Given the description of an element on the screen output the (x, y) to click on. 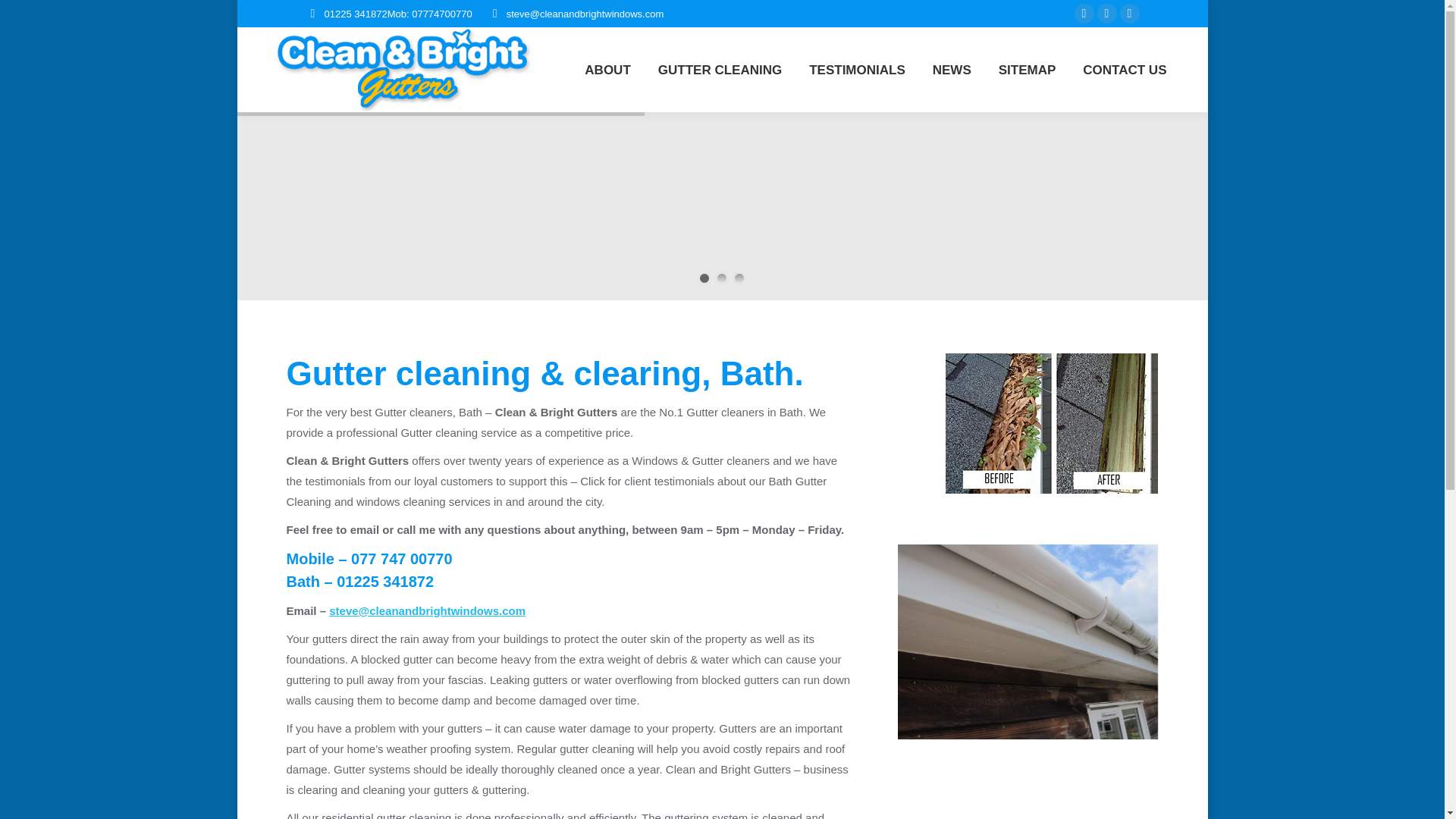
CONTACT US (1124, 69)
Instagram page opens in new window (1106, 13)
ABOUT (606, 69)
077 747 00770 (400, 558)
Instagram page opens in new window (1106, 13)
01225 341872 (355, 12)
Twitter page opens in new window (1129, 13)
Facebook page opens in new window (1084, 13)
Facebook page opens in new window (1084, 13)
Mob: 07774700770 (429, 12)
